Given the description of an element on the screen output the (x, y) to click on. 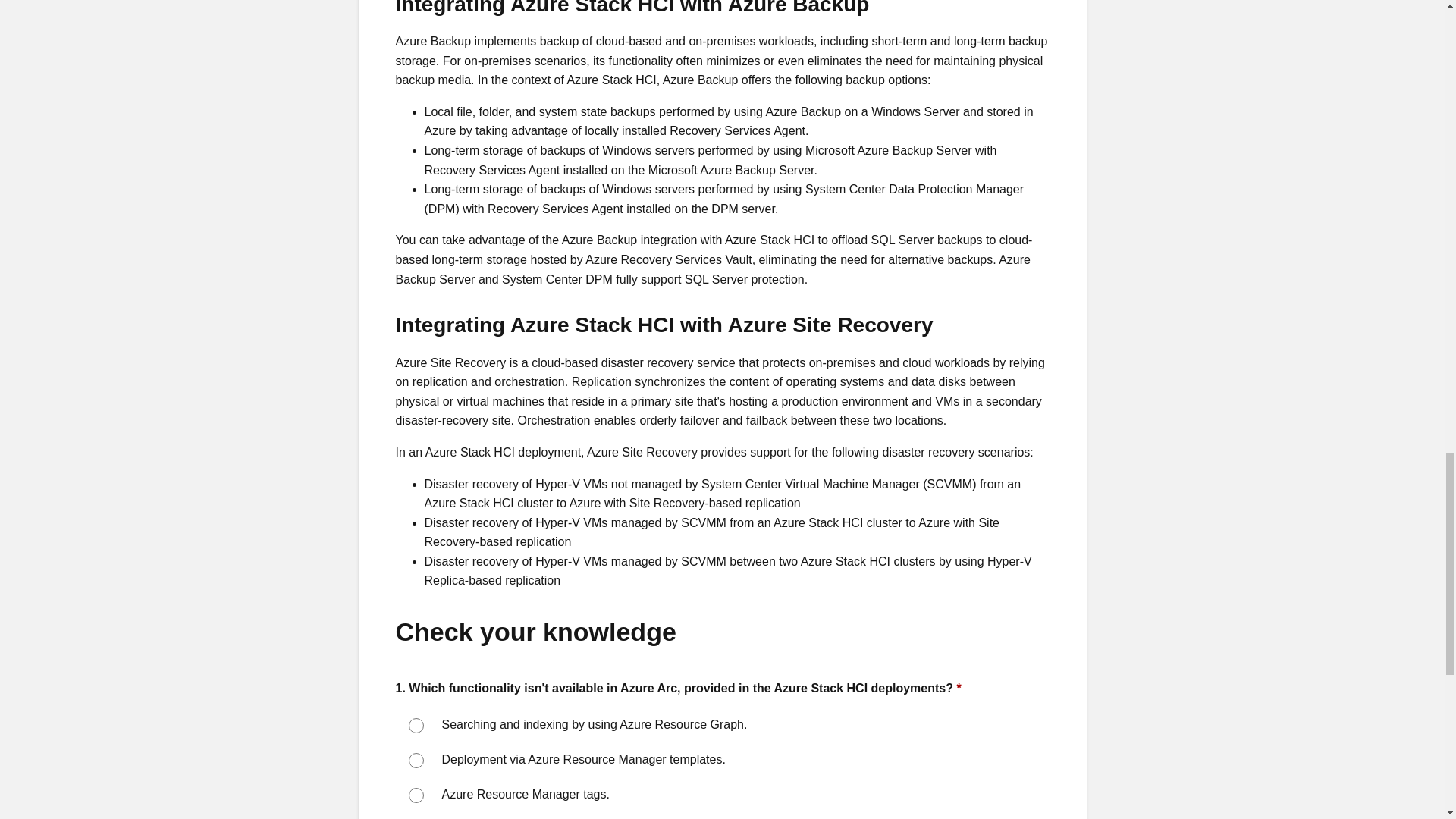
0 (415, 725)
1 (415, 760)
2 (415, 795)
